Given the description of an element on the screen output the (x, y) to click on. 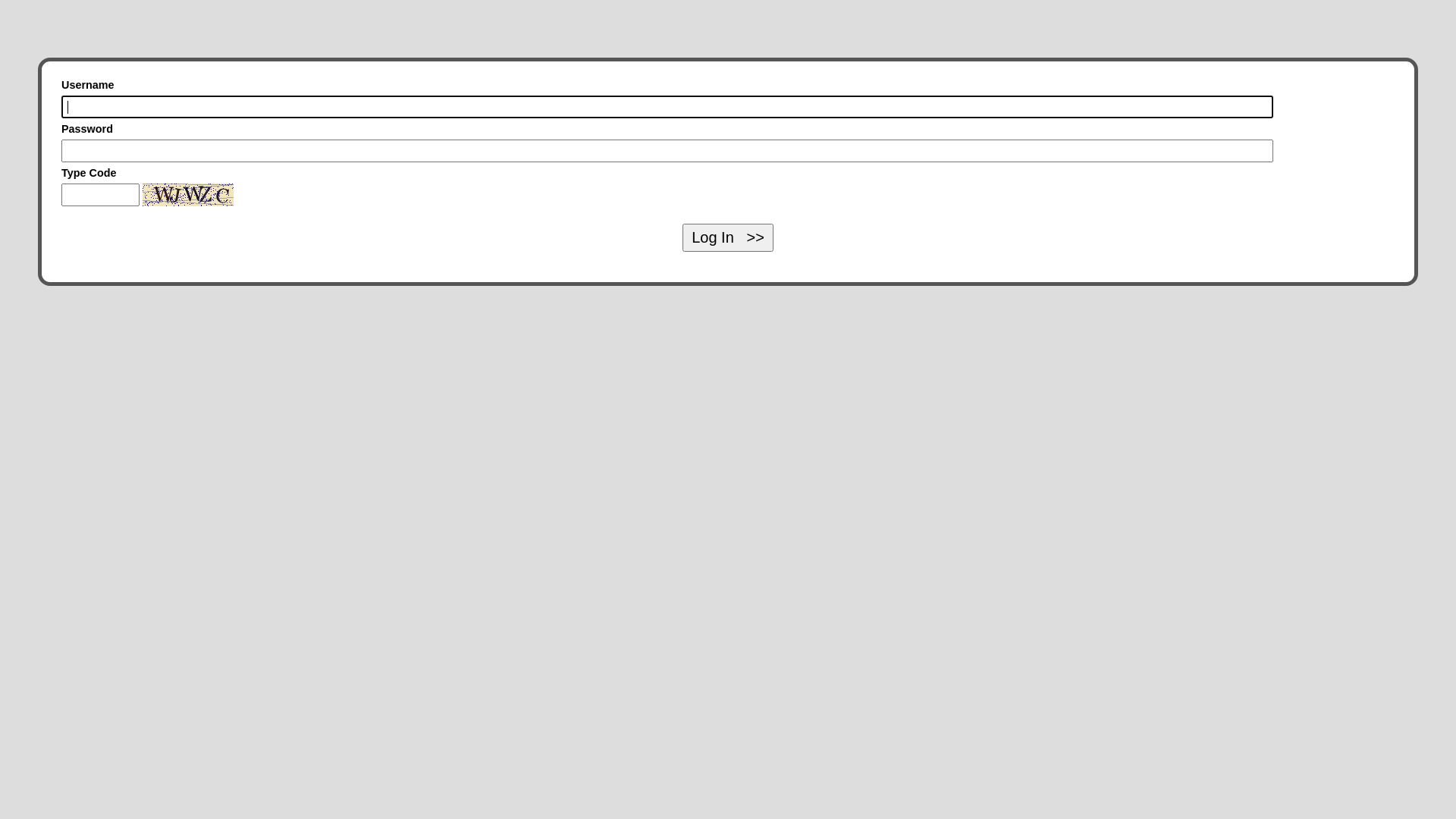
Log In   >> Element type: text (727, 237)
